Given the description of an element on the screen output the (x, y) to click on. 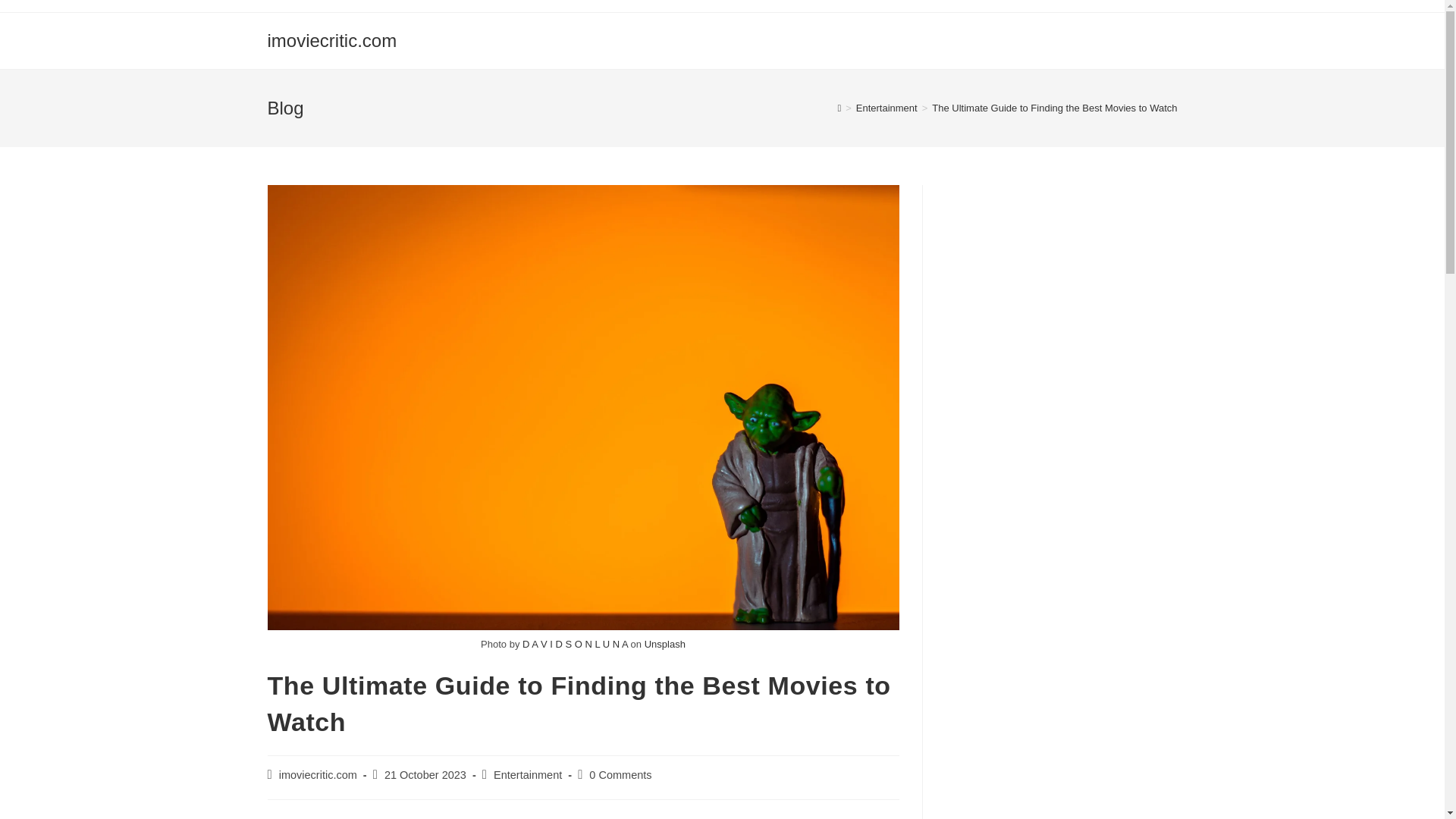
Posts by imoviecritic.com (317, 775)
imoviecritic.com (317, 775)
The Ultimate Guide to Finding the Best Movies to Watch (1053, 107)
D A V I D S O N L U N A (574, 644)
Unsplash (665, 644)
0 Comments (619, 775)
imoviecritic.com (331, 40)
Entertainment (886, 107)
Entertainment (527, 775)
